Given the description of an element on the screen output the (x, y) to click on. 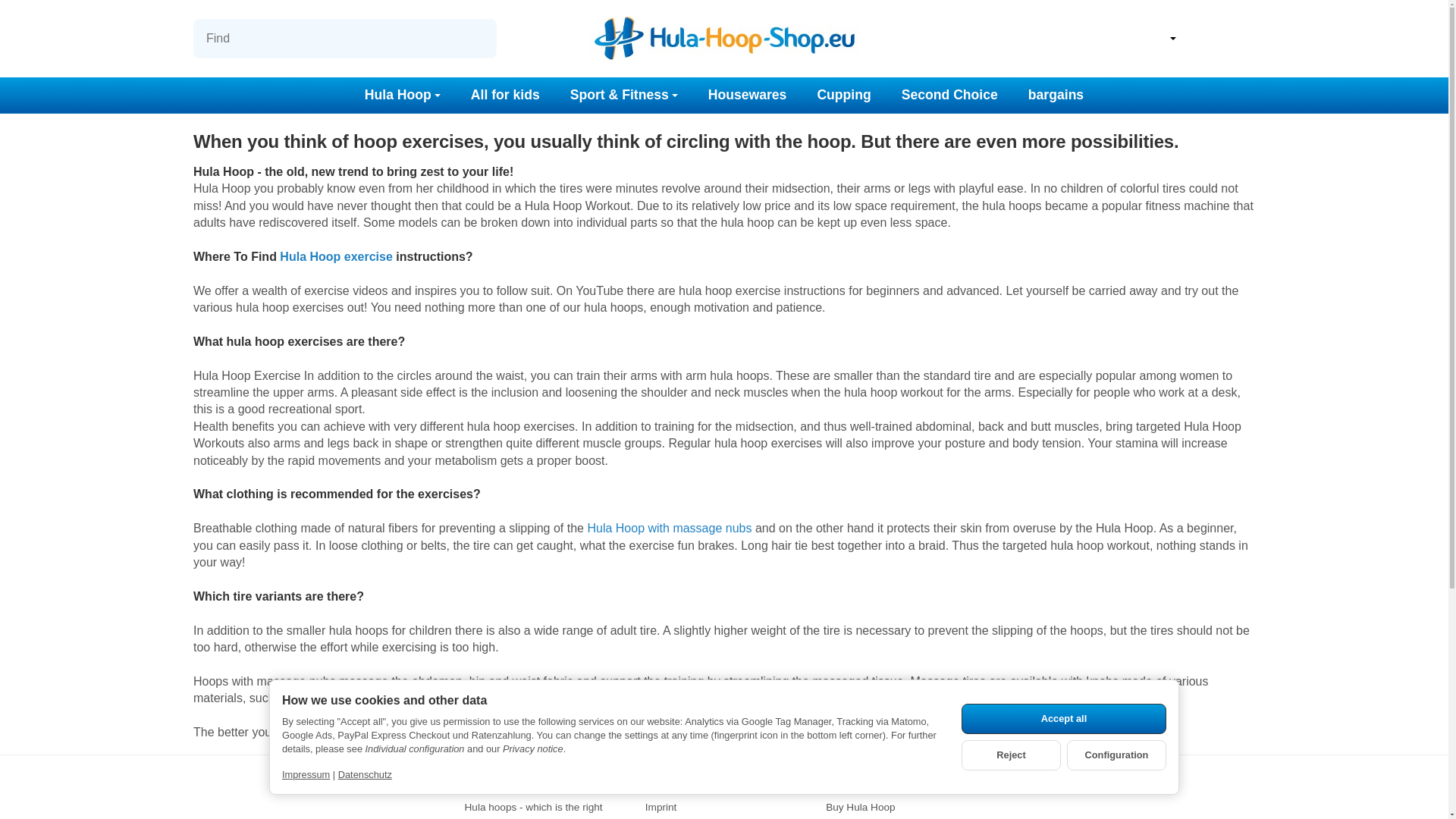
Hula Hoop (402, 94)
Log in (1200, 38)
Hula Hoop Shop.eu (723, 38)
Please select a language. (1156, 38)
Basket (1239, 38)
Hula Hoop (402, 94)
